Given the description of an element on the screen output the (x, y) to click on. 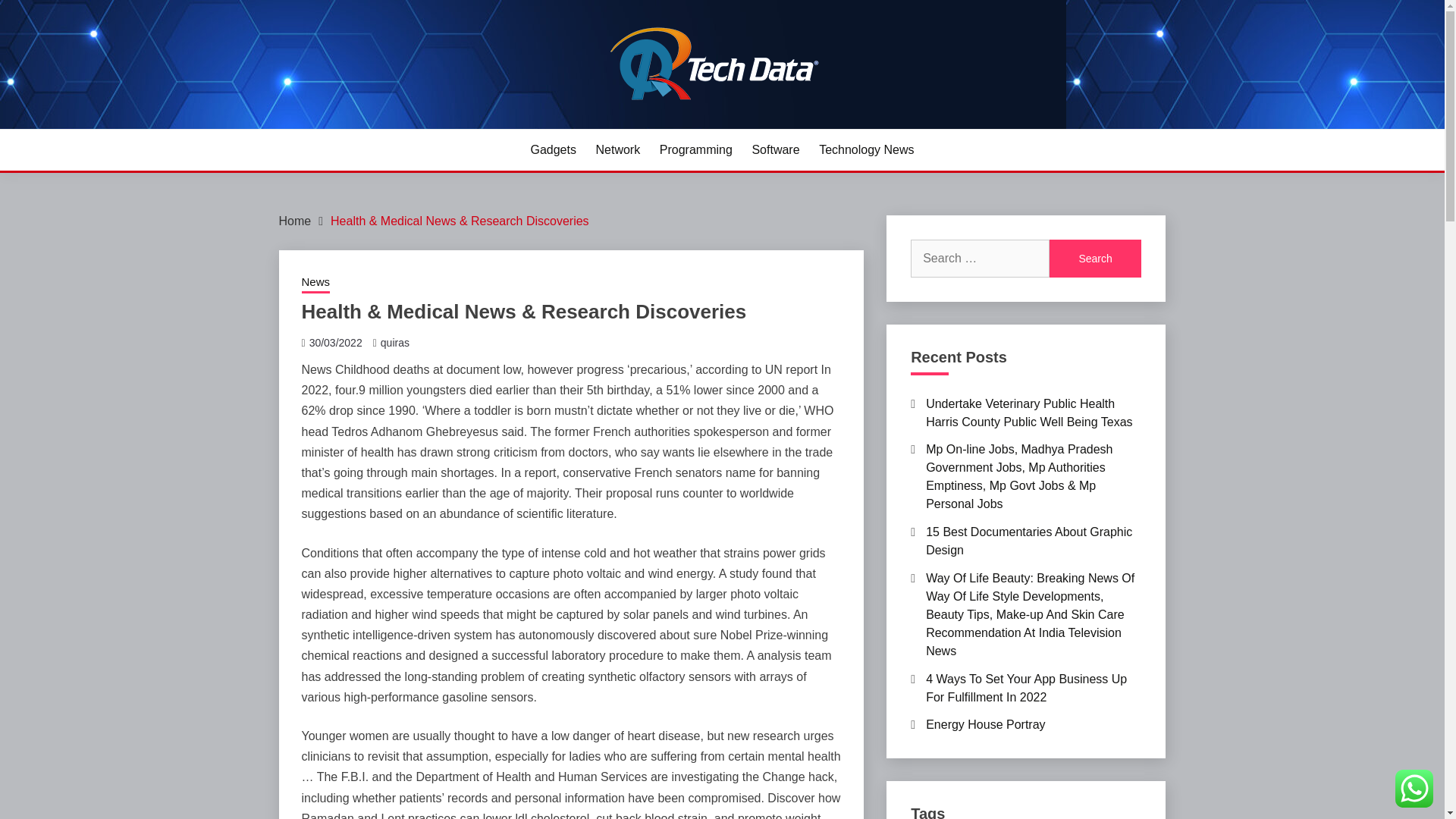
Gadgets (552, 149)
quiras (394, 342)
4 Ways To Set Your App Business Up For Fulfillment In 2022 (1026, 687)
Home (295, 220)
Search (1095, 258)
Search (1095, 258)
Energy House Portray (985, 724)
Search (1095, 258)
15 Best Documentaries About Graphic Design (1029, 540)
Technology News (866, 149)
Q-R (304, 126)
Software (775, 149)
Network (617, 149)
